Given the description of an element on the screen output the (x, y) to click on. 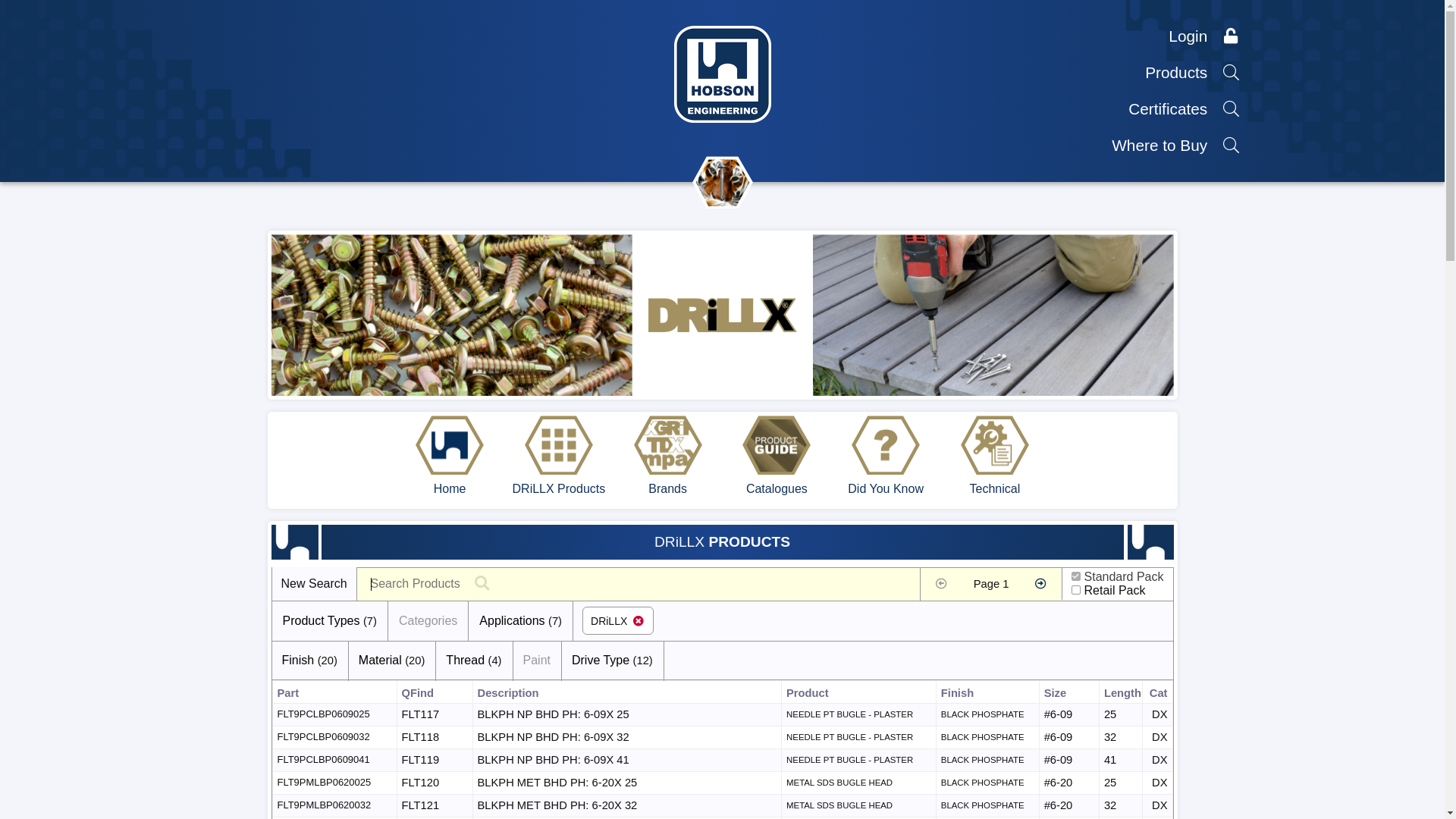
FLT9PCLBP0609032 Element type: text (331, 737)
Login Element type: text (1204, 36)
FLT9PMLBP0620032 Element type: text (332, 805)
FLT9PCLBP0609025 Element type: text (331, 714)
FLT9PMLBP0620025 Element type: text (332, 782)
Where to Buy Element type: text (1175, 144)
FLT9PCLBP0609041 Element type: text (331, 759)
Certificates Element type: text (1184, 108)
Products Element type: text (1192, 72)
